Given the description of an element on the screen output the (x, y) to click on. 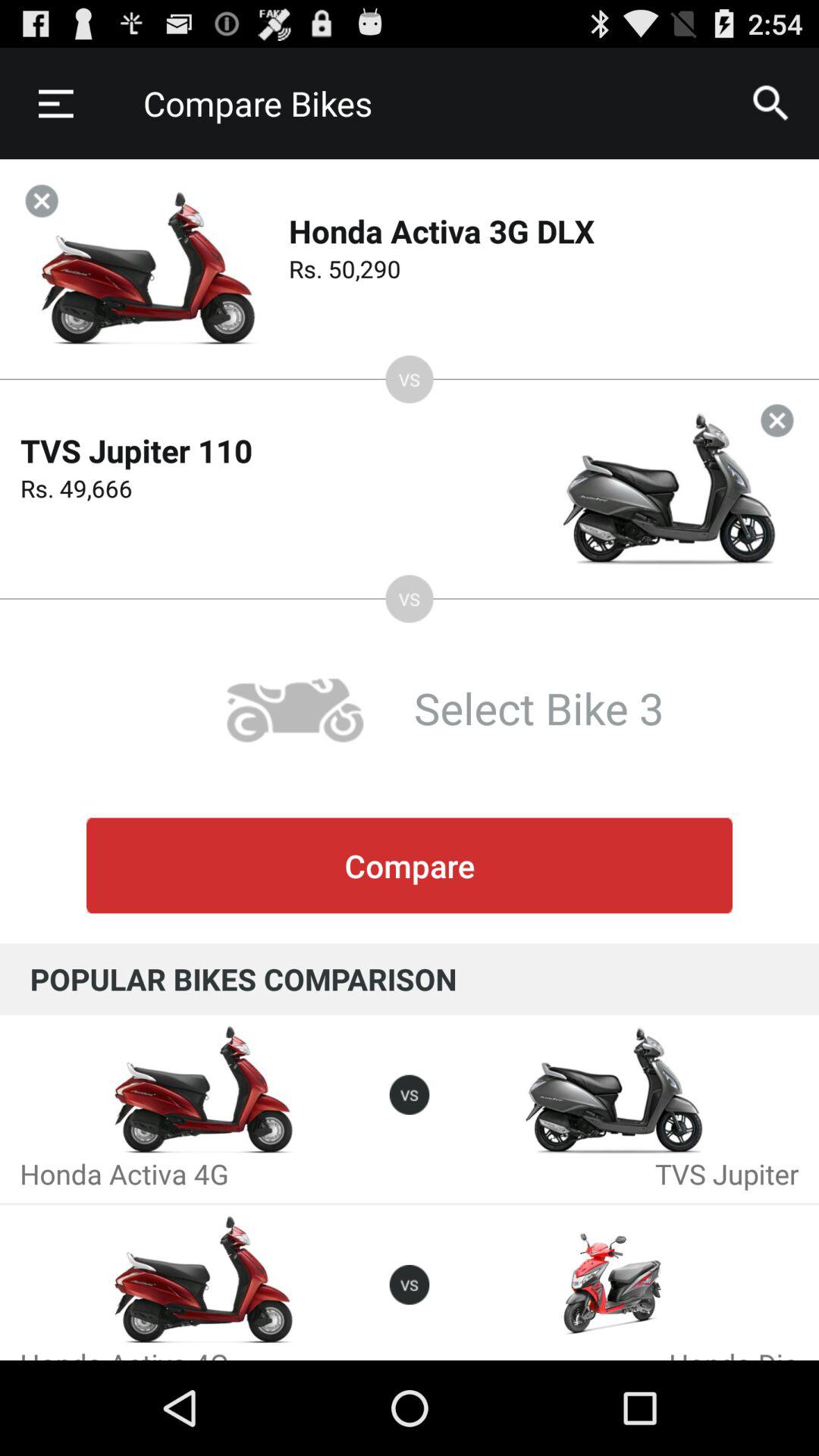
the button is used to close the bike page and proceed with another one to be compared (41, 200)
